Given the description of an element on the screen output the (x, y) to click on. 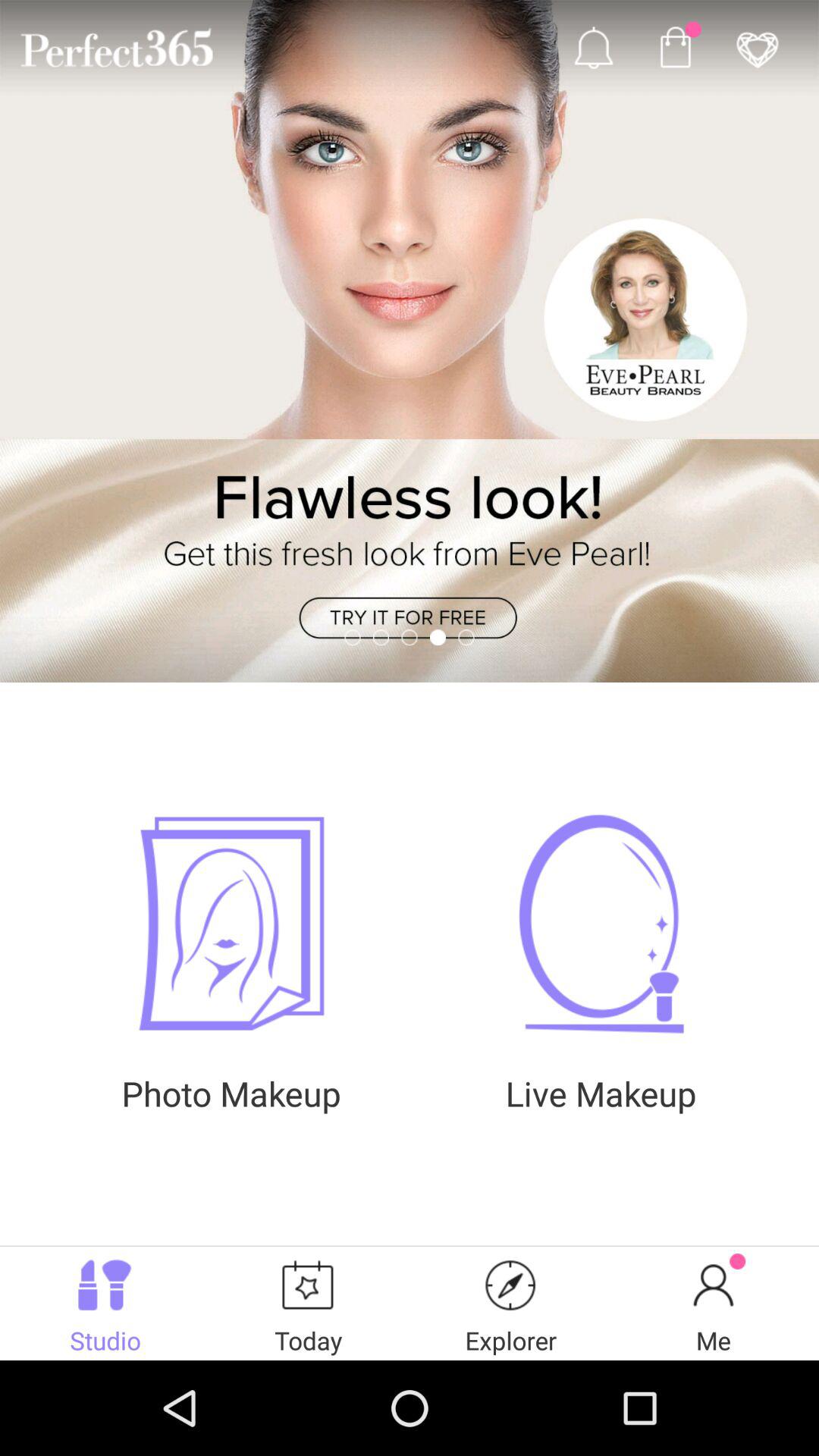
click on bell icon (593, 47)
go to top right option (757, 47)
click on cart icon at top right (675, 47)
click on the symbol above studio (105, 1285)
click on the right of studio (308, 1302)
select the icon for explorer option (510, 1285)
